Given the description of an element on the screen output the (x, y) to click on. 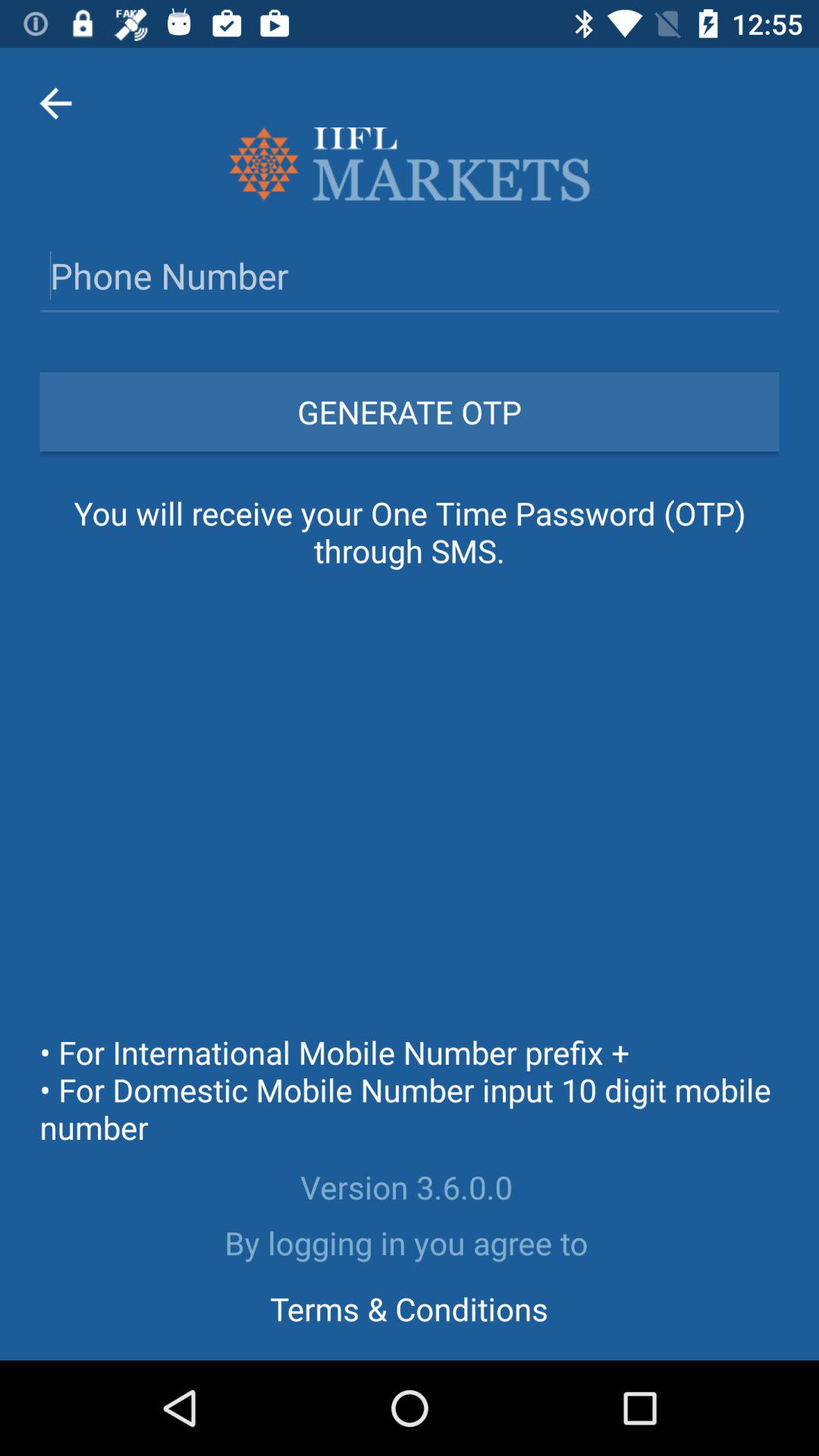
tap icon above terms & conditions item (409, 1242)
